Given the description of an element on the screen output the (x, y) to click on. 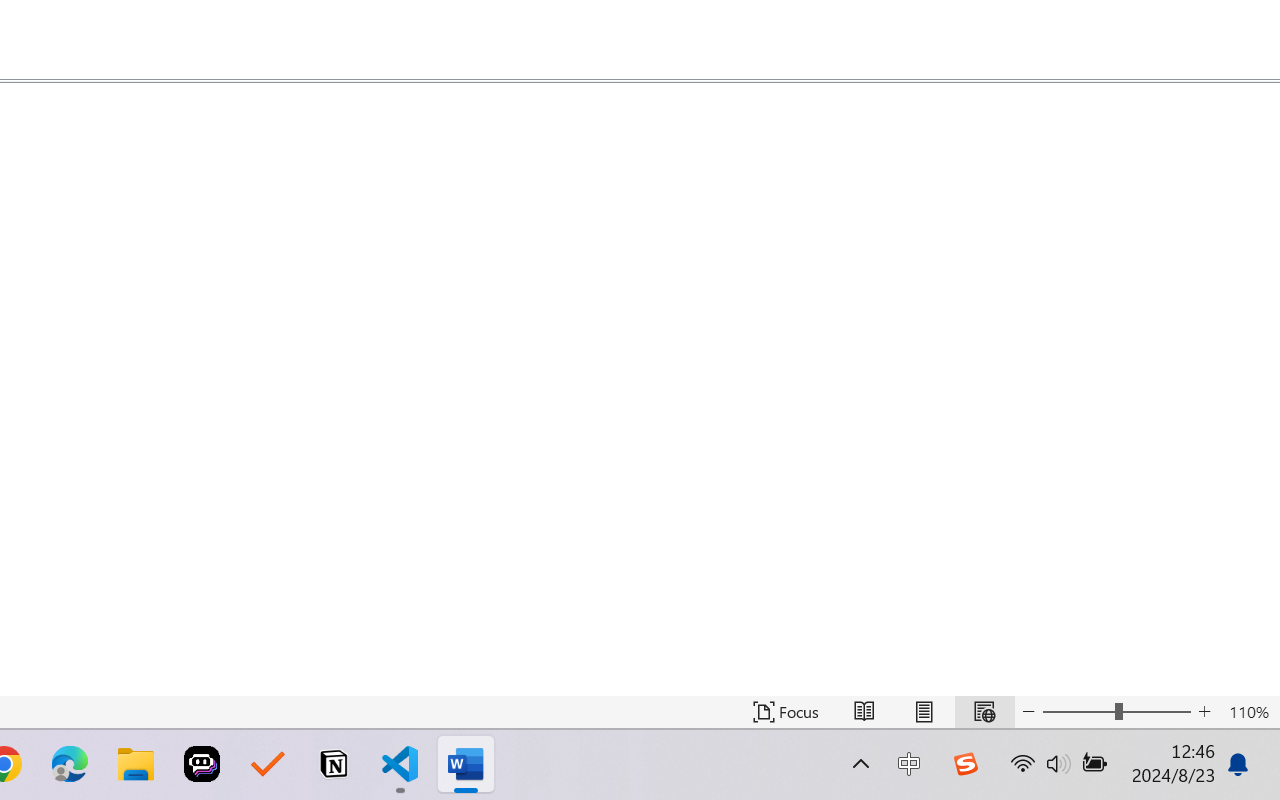
Zoom 110% (1249, 712)
